Given the description of an element on the screen output the (x, y) to click on. 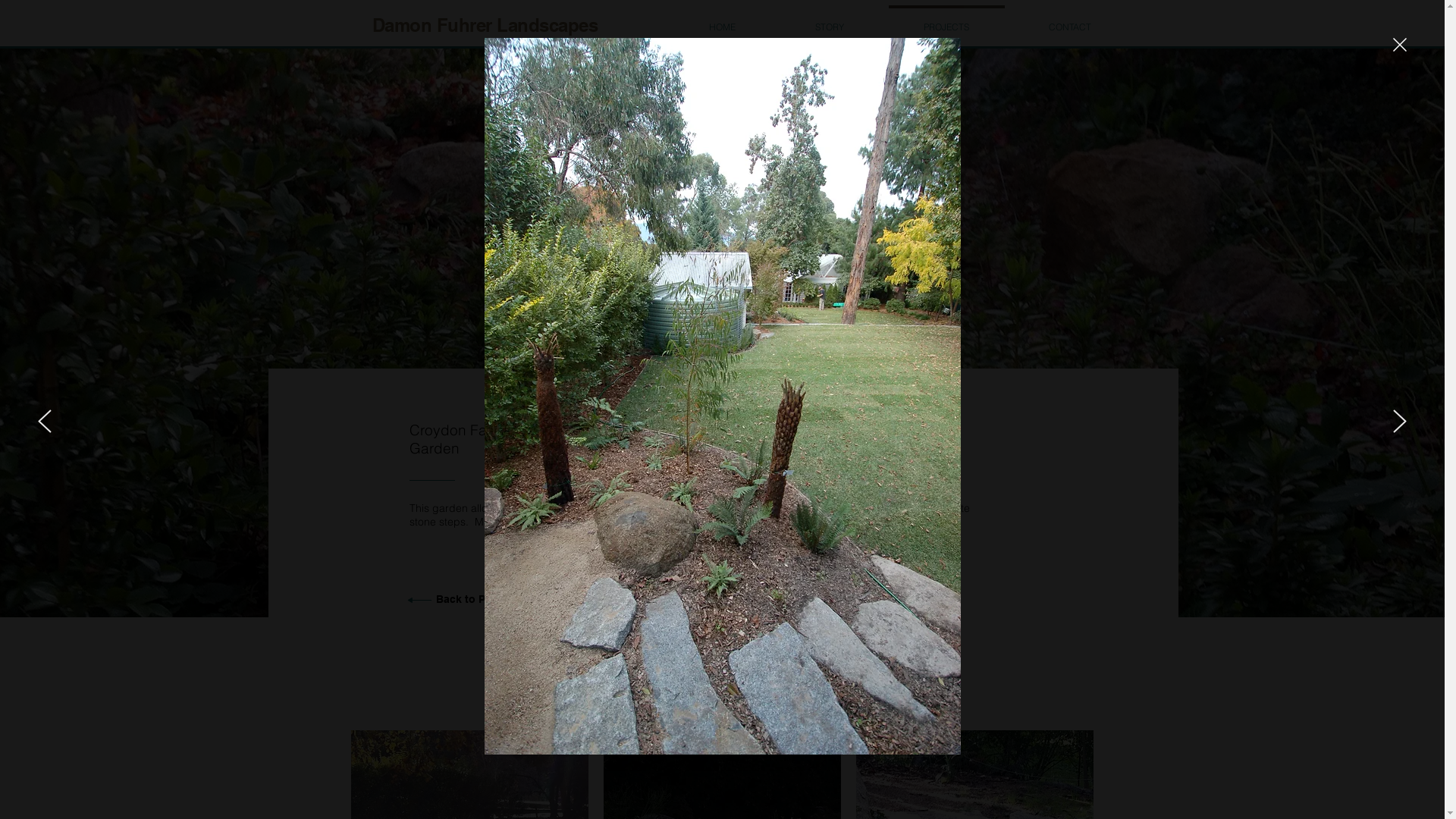
CONTACT Element type: text (1069, 20)
rojects page Element type: text (517, 599)
HOME Element type: text (721, 20)
Back to P Element type: text (459, 599)
PROJECTS Element type: text (946, 20)
Damon Fuhrer Landscapes Element type: text (484, 24)
STORY Element type: text (829, 20)
